Given the description of an element on the screen output the (x, y) to click on. 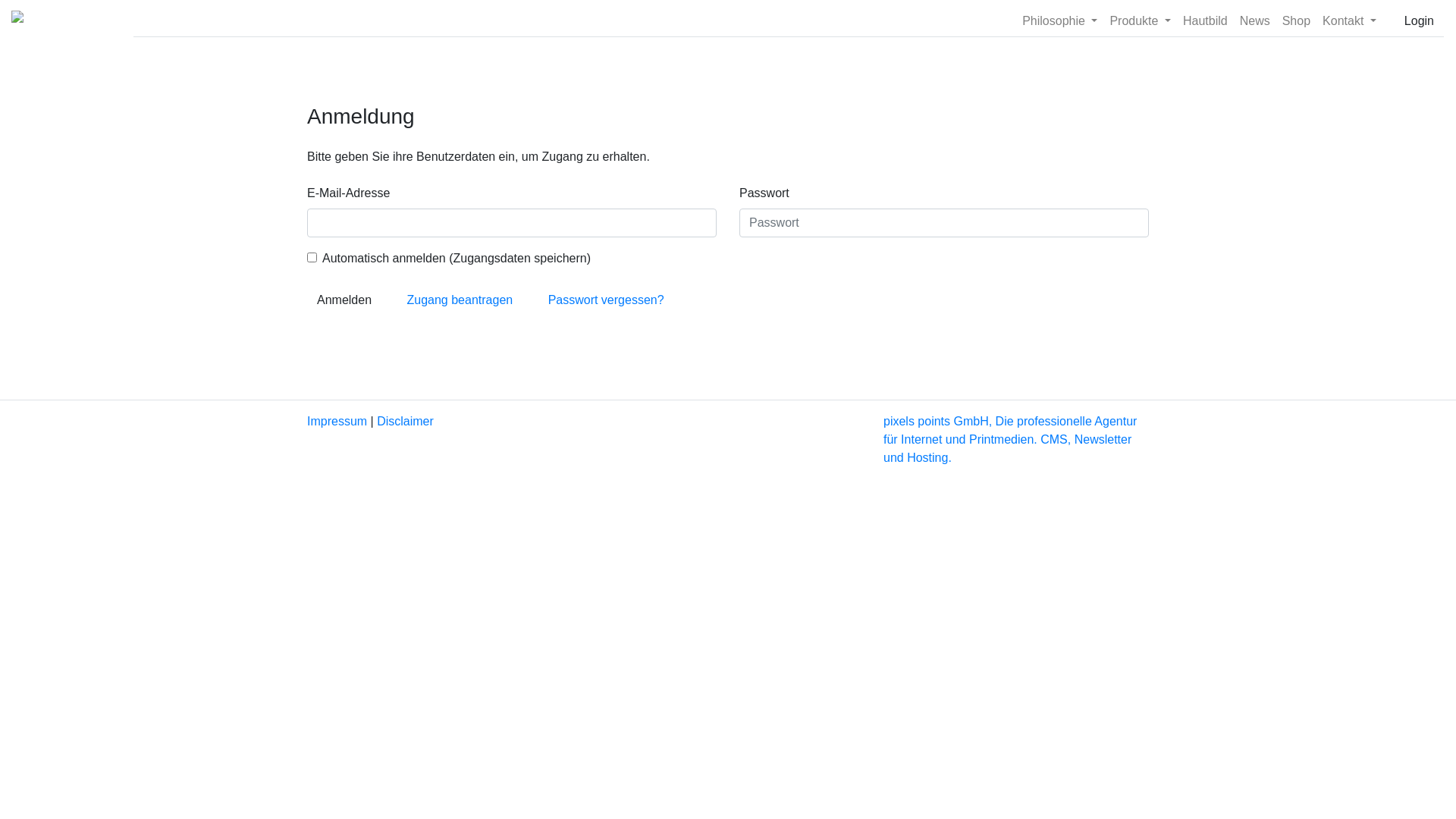
Impressum Element type: text (337, 420)
Produkte Element type: text (1139, 21)
Philosophie Element type: text (1059, 21)
Zugang beantragen Element type: text (460, 299)
Kontakt Element type: text (1349, 21)
Disclaimer Element type: text (404, 420)
Anmelden Element type: text (344, 299)
Shop Element type: text (1296, 21)
Passwort vergessen? Element type: text (606, 299)
Hautbild Element type: text (1204, 21)
Login Element type: text (1418, 20)
News Element type: text (1254, 21)
